Given the description of an element on the screen output the (x, y) to click on. 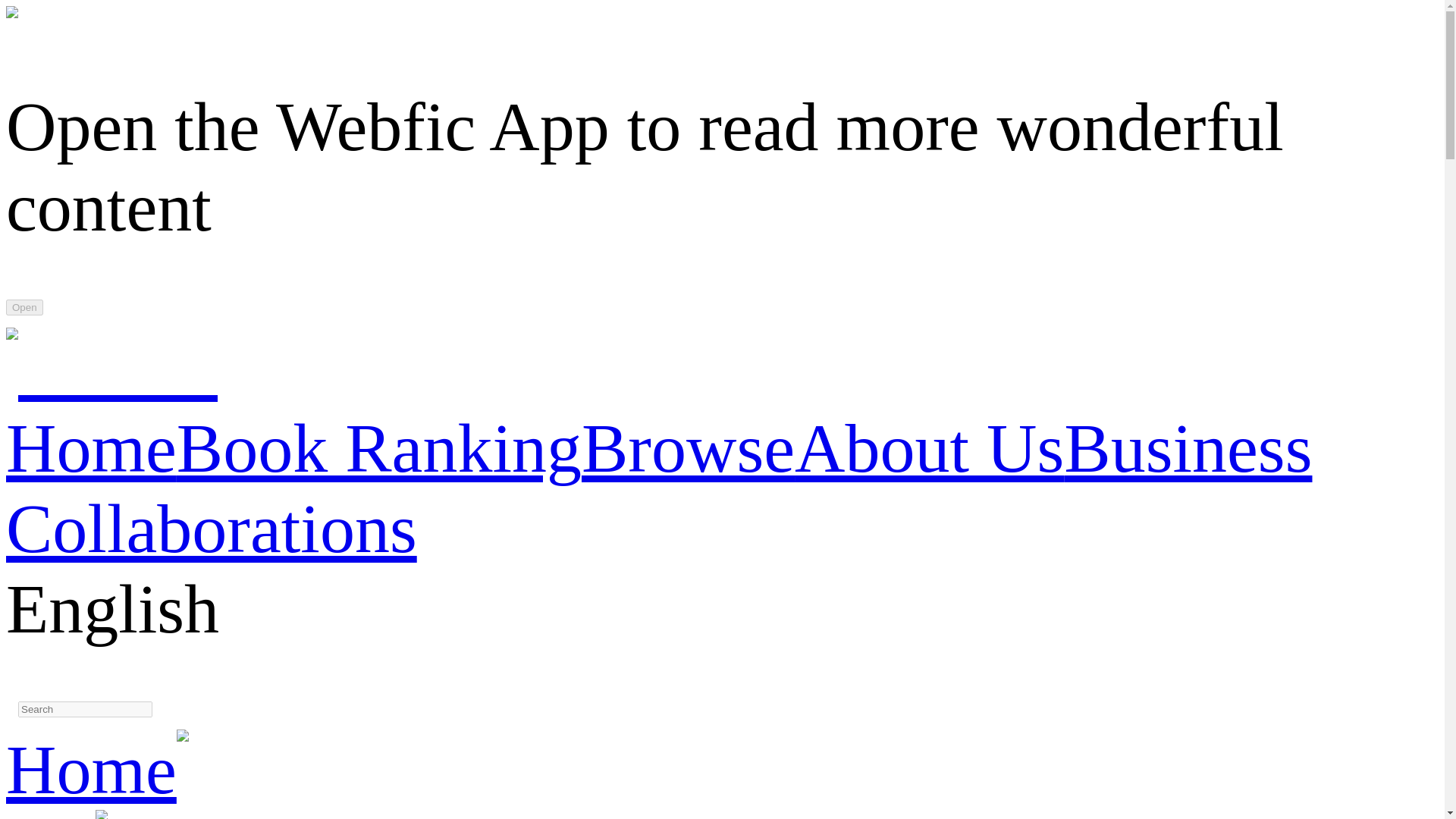
Home (90, 769)
Browse (687, 447)
All (50, 815)
Open (24, 307)
About Us (929, 447)
Home (90, 447)
Book Ranking (378, 447)
